Given the description of an element on the screen output the (x, y) to click on. 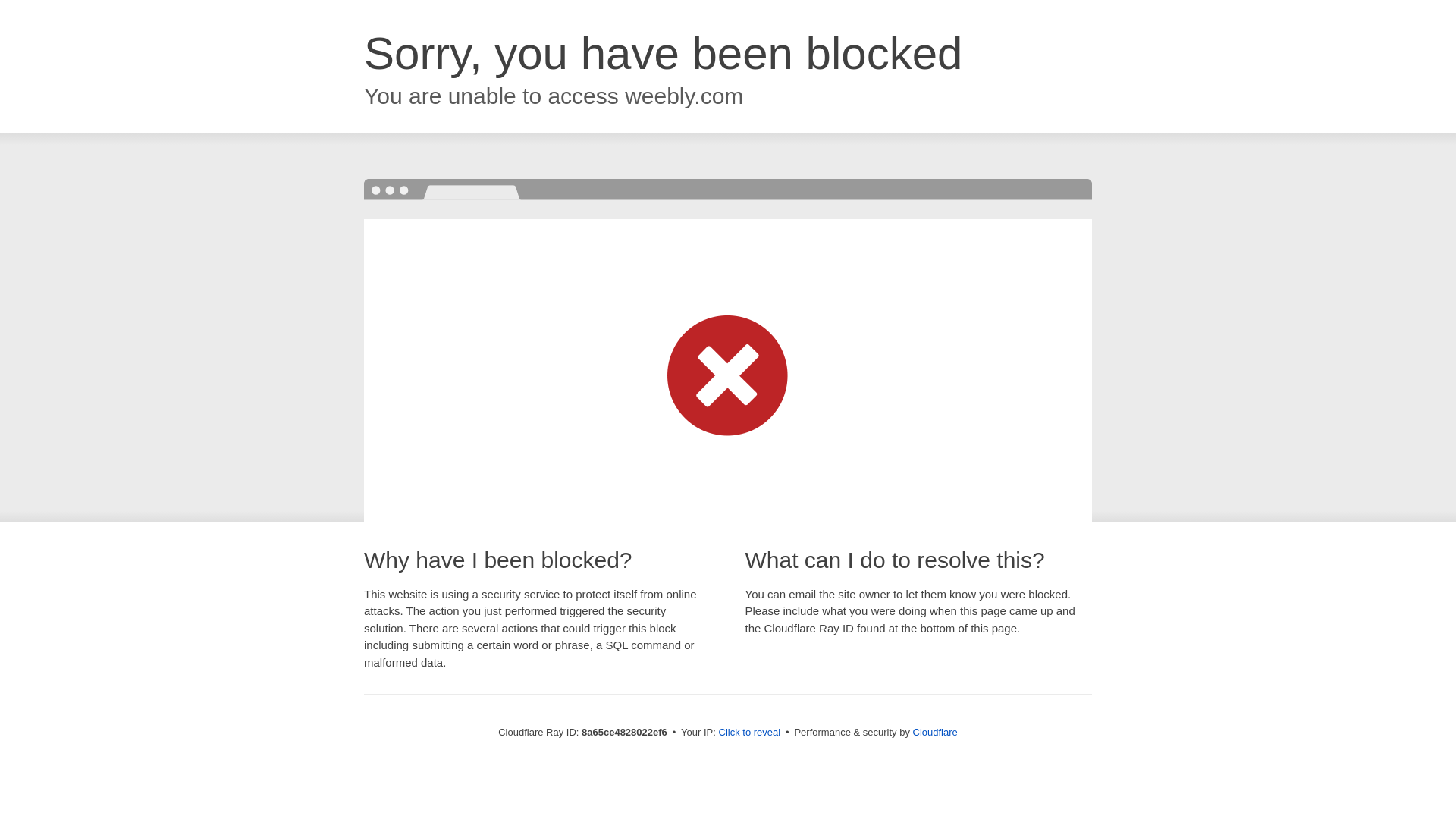
Cloudflare (935, 731)
Click to reveal (749, 732)
